Given the description of an element on the screen output the (x, y) to click on. 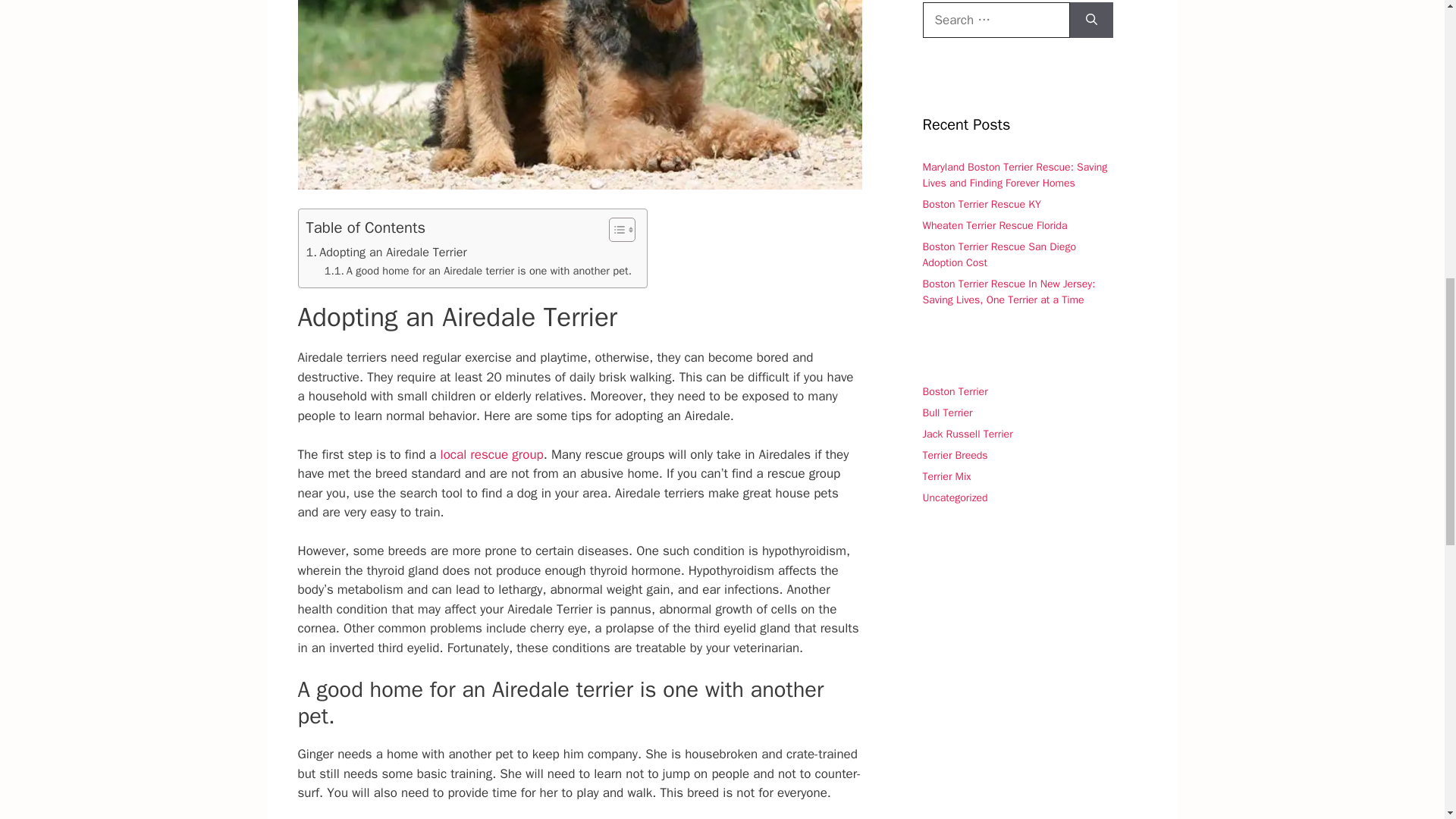
A good home for an Airedale terrier is one with another pet. (477, 271)
Wheaten Terrier Rescue Florida (994, 225)
Adopting an Airedale Terrier (386, 252)
local rescue group (492, 454)
Search for: (994, 20)
Jack Russell Terrier (966, 433)
Boston Terrier Rescue KY (981, 204)
Adopting an Airedale Terrier (386, 252)
Boston Terrier Rescue San Diego Adoption Cost (998, 254)
A good home for an Airedale terrier is one with another pet. (477, 271)
Boston Terrier (954, 391)
Bull Terrier (946, 412)
